Given the description of an element on the screen output the (x, y) to click on. 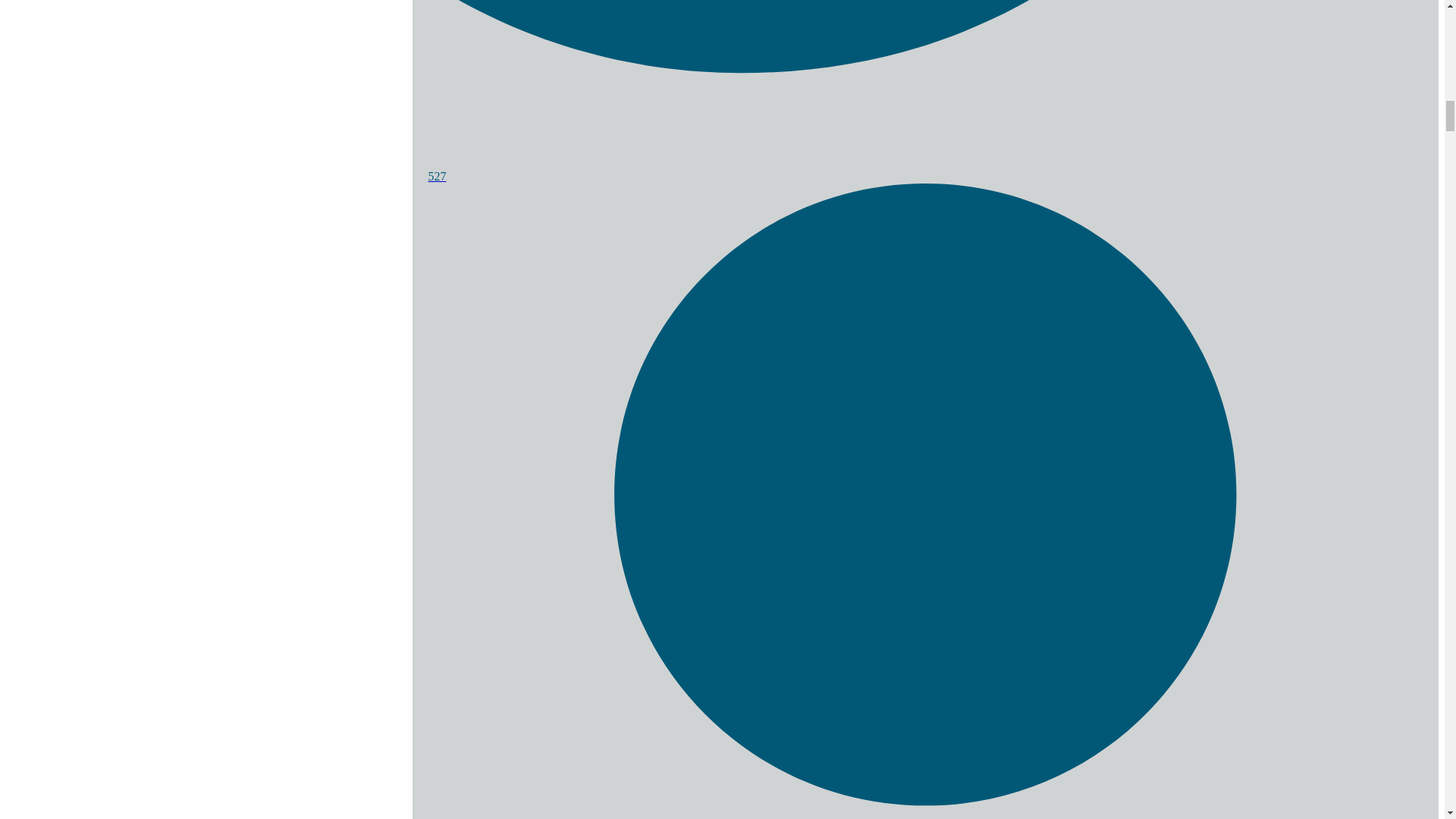
527 Tweets (925, 169)
